Given the description of an element on the screen output the (x, y) to click on. 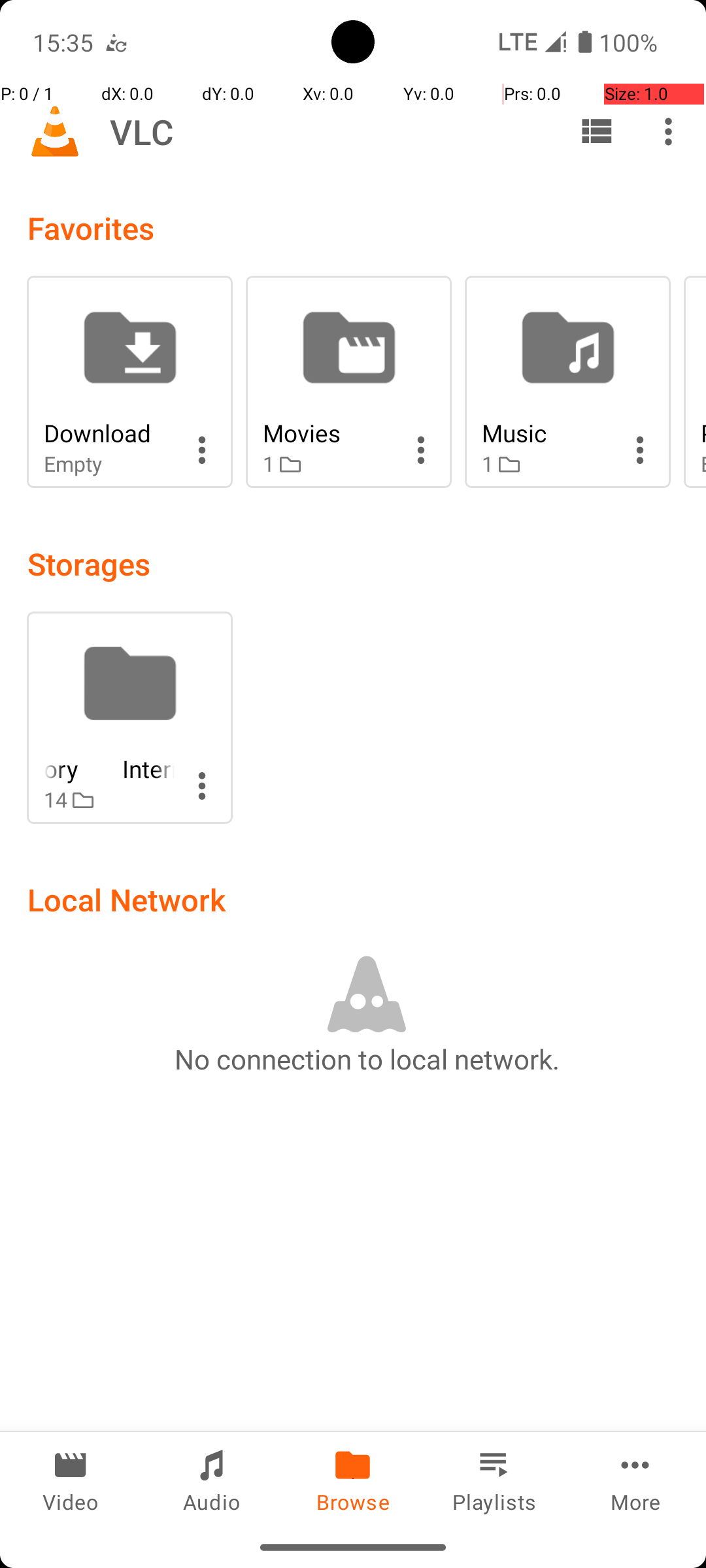
Storages Element type: android.widget.TextView (88, 563)
Local Network Element type: android.widget.TextView (126, 898)
No connection to local network. Element type: android.widget.TextView (366, 1058)
Favorite: Download, Empty Element type: androidx.cardview.widget.CardView (129, 381)
Favorite: Movies, 1 subfolder Element type: androidx.cardview.widget.CardView (348, 381)
Favorite: Music, 1 subfolder Element type: androidx.cardview.widget.CardView (567, 381)
Favorite: Podcasts, Empty Element type: androidx.cardview.widget.CardView (694, 381)
Folder: Internal memory, 14 subfolders Element type: androidx.cardview.widget.CardView (129, 717)
Empty Element type: android.widget.TextView (108, 463)
1 §*§ Element type: android.widget.TextView (327, 463)
14 §*§ Element type: android.widget.TextView (108, 799)
